Given the description of an element on the screen output the (x, y) to click on. 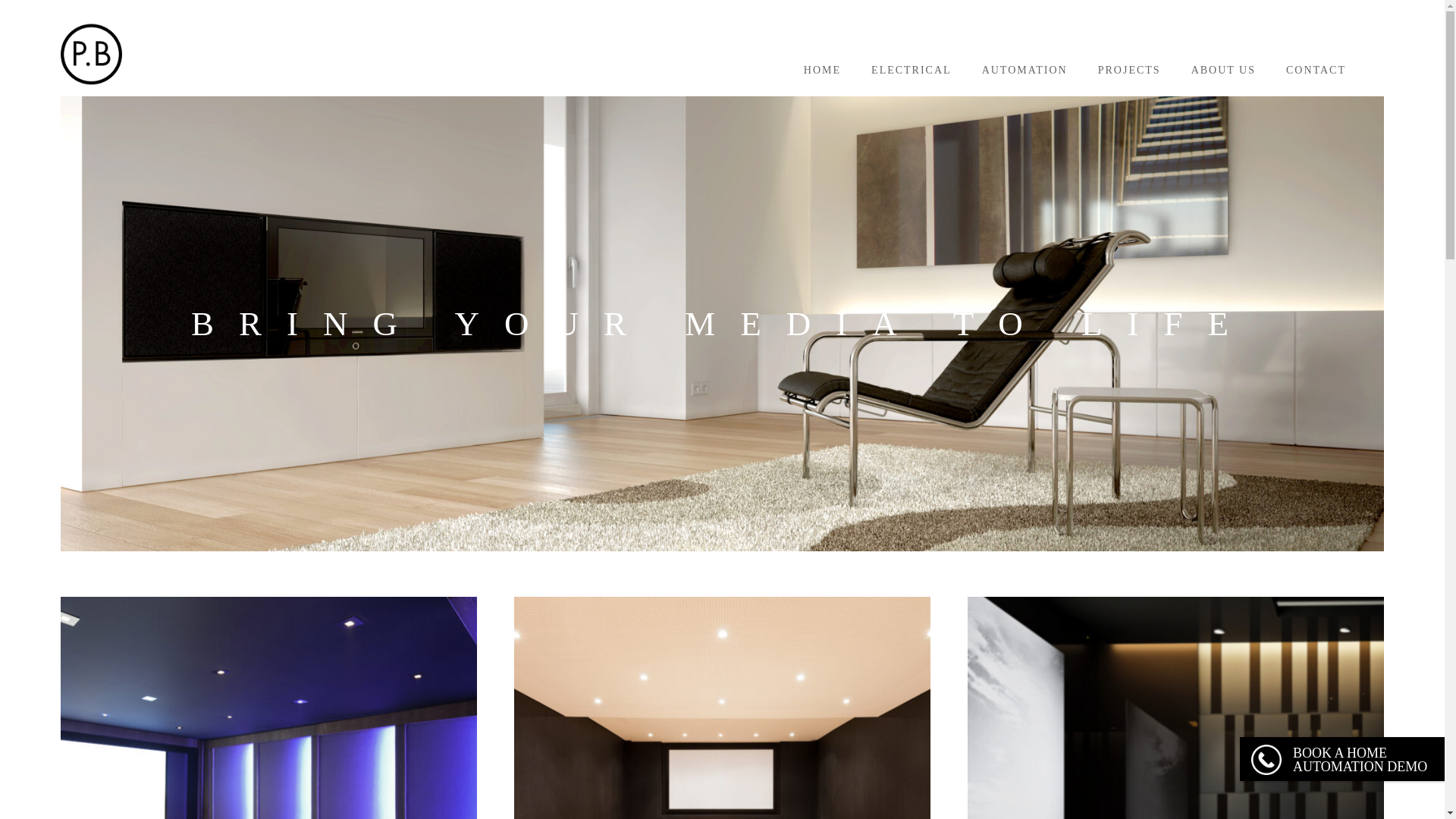
HOME (822, 70)
ELECTRICAL (911, 70)
PROJECTS (1128, 70)
ABOUT US (1223, 70)
AUTOMATION (1024, 70)
CONTACT (1315, 70)
